Given the description of an element on the screen output the (x, y) to click on. 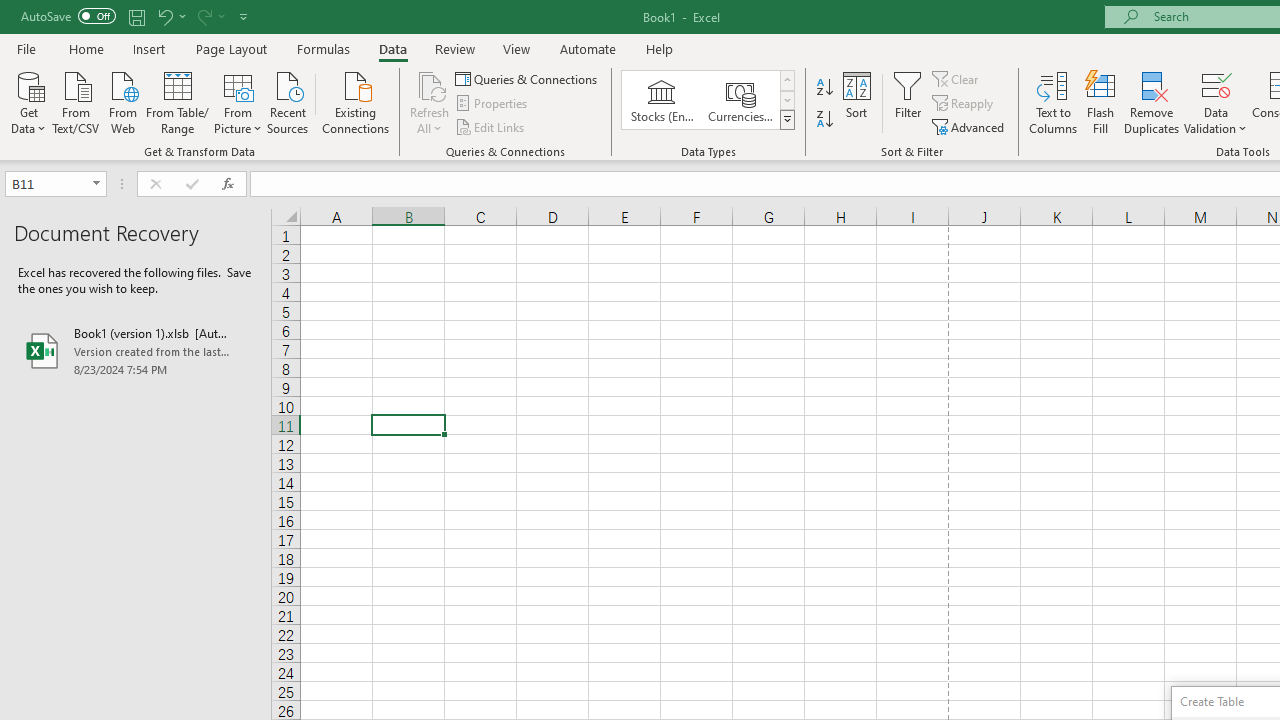
Book1 (version 1).xlsb  [AutoRecovered] (136, 350)
Reapply (964, 103)
Advanced... (970, 126)
Edit Links (491, 126)
Row Down (786, 100)
From Table/Range (177, 101)
